Given the description of an element on the screen output the (x, y) to click on. 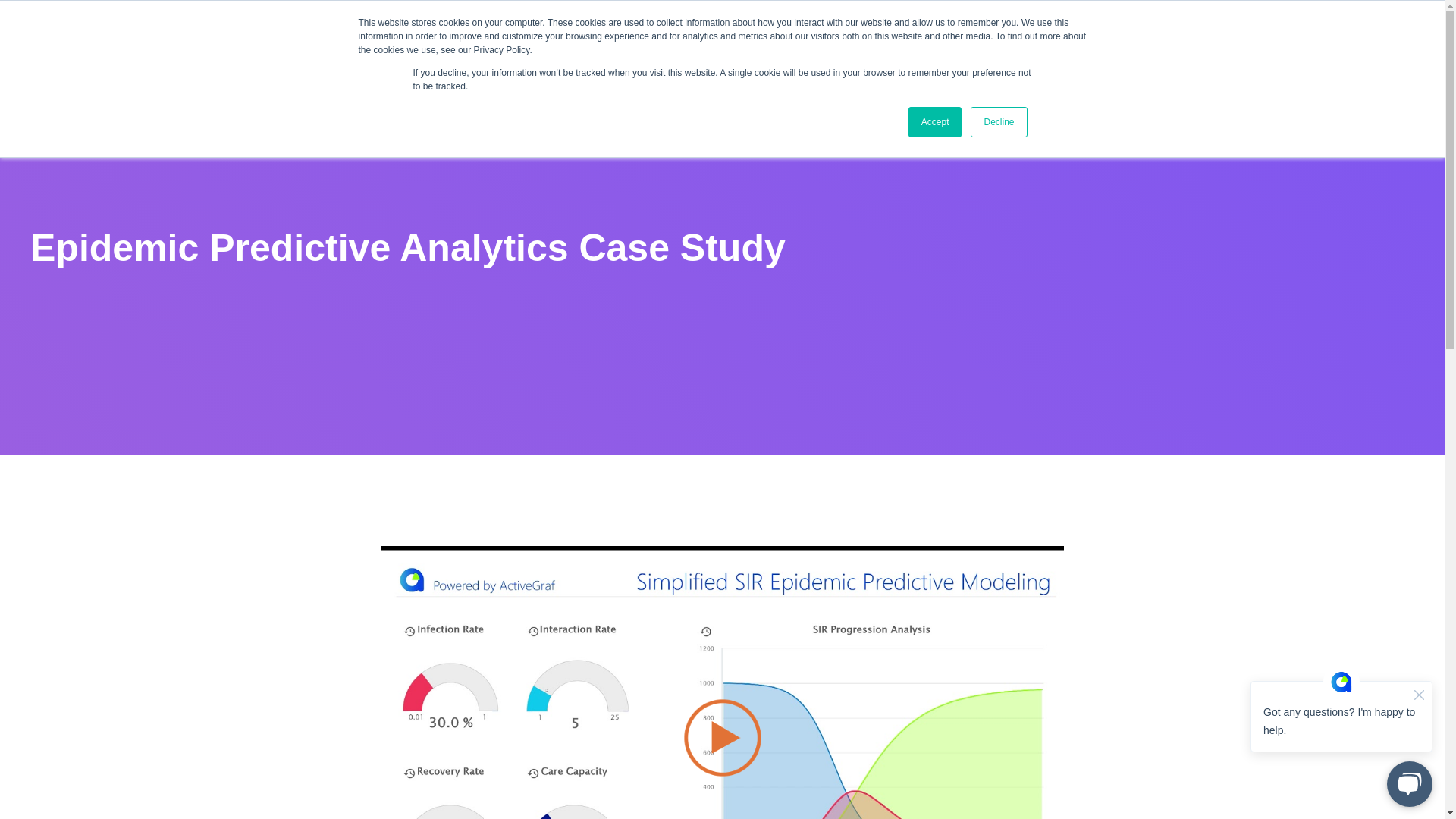
TRY IT FOR FREE (1350, 35)
SOLUTIONS (772, 34)
Epidemic Predictive Analytics Case Study (994, 759)
CONTACT US (1168, 34)
Accept (935, 122)
GET STARTED (874, 34)
Decline (998, 122)
SUPPORT (971, 34)
RESOURCES (1065, 34)
OVERVIEW (678, 34)
